Given the description of an element on the screen output the (x, y) to click on. 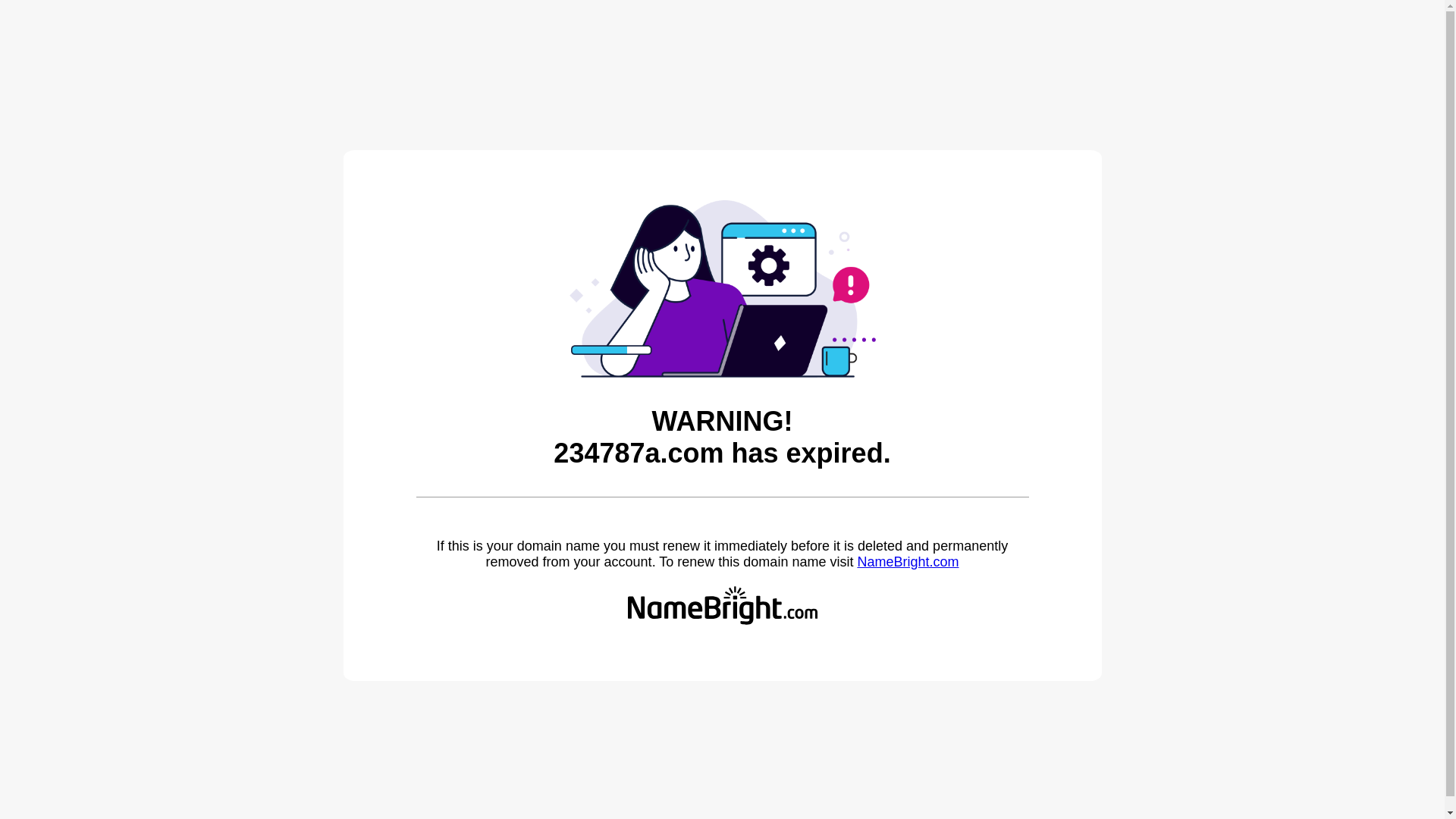
NameBright.com Element type: text (907, 561)
